Given the description of an element on the screen output the (x, y) to click on. 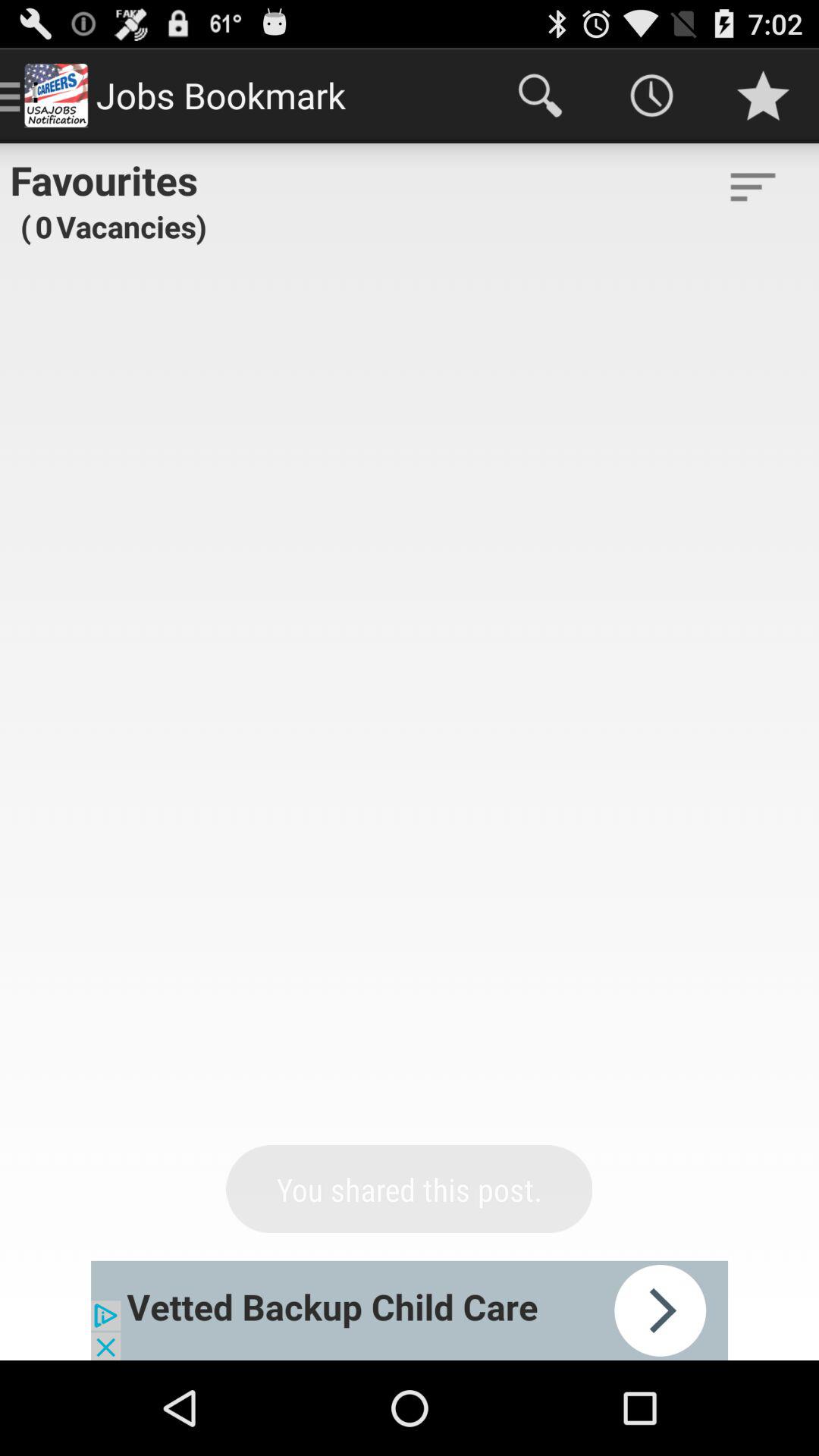
advertisement to open vetted backup child care webpage (409, 1310)
